Given the description of an element on the screen output the (x, y) to click on. 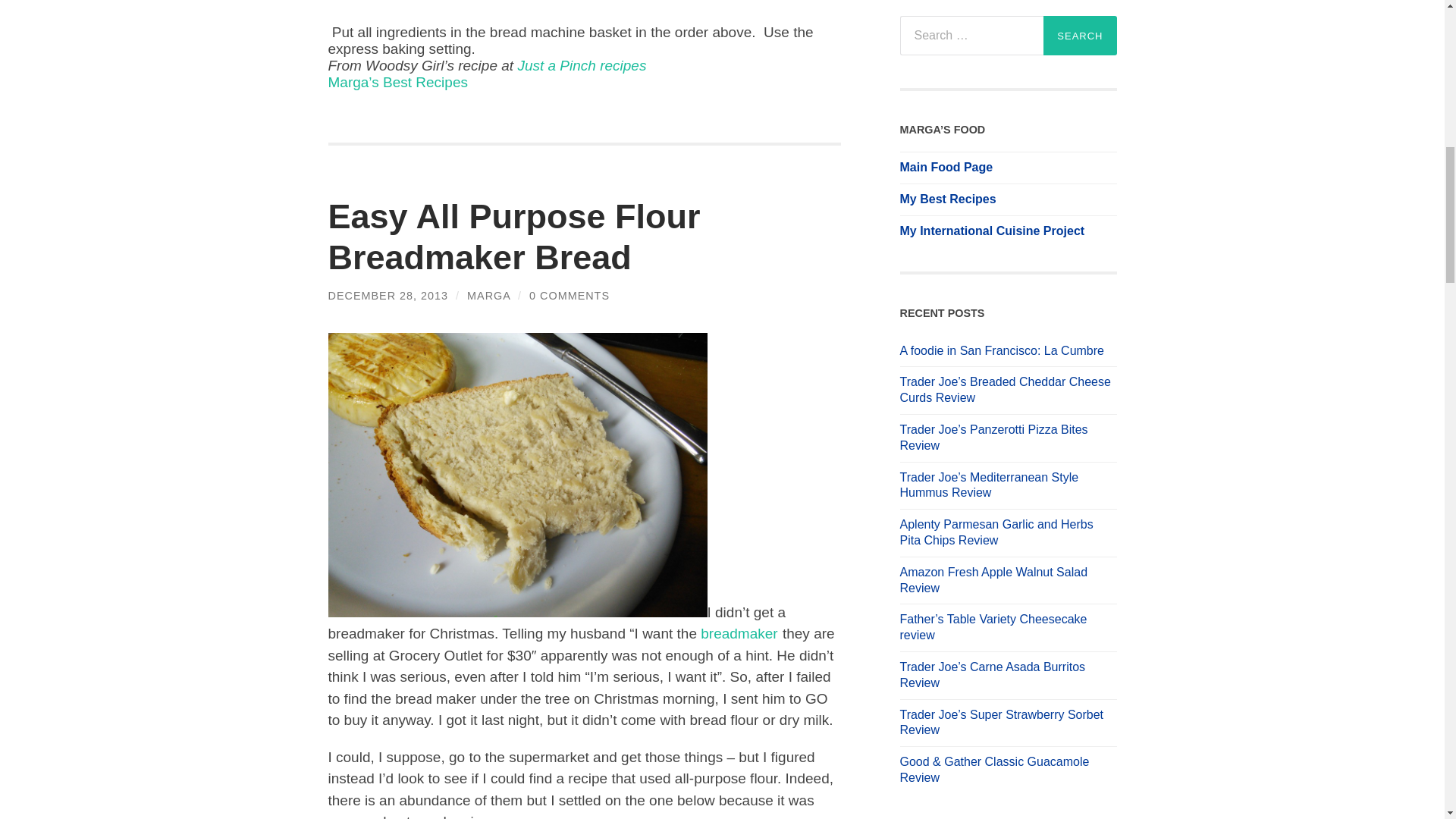
Posts by marga (489, 295)
DECEMBER 28, 2013 (387, 295)
breadmaker (738, 633)
Search (1079, 35)
Just a Pinch recipes (581, 65)
0 COMMENTS (569, 295)
Search (1079, 35)
MARGA (489, 295)
Easy All Purpose Flour Breadmaker Bread (513, 236)
